Given the description of an element on the screen output the (x, y) to click on. 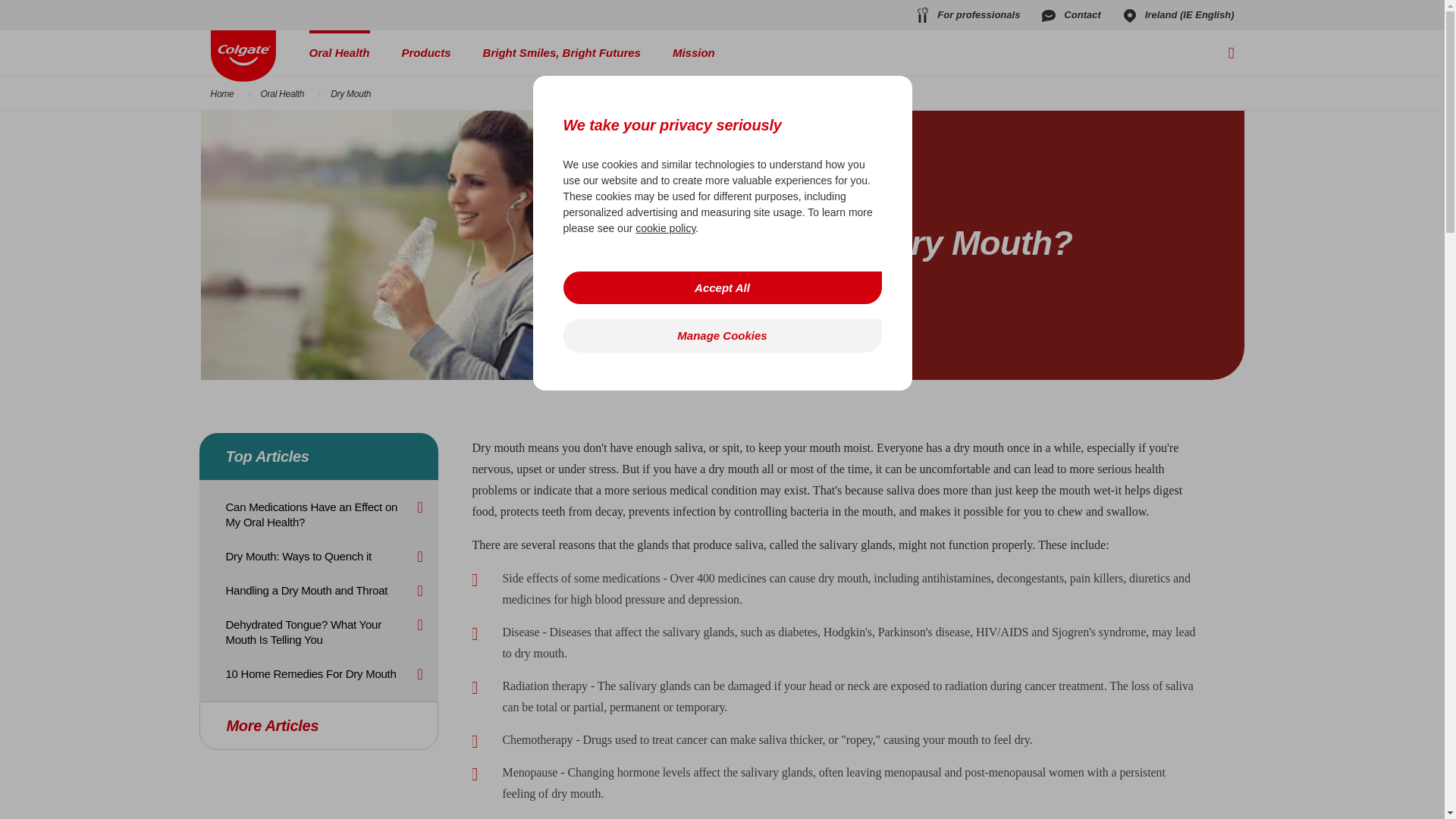
Contact (1069, 14)
Bright Smiles, Bright Futures (561, 52)
For professionals (966, 15)
Oral Health (338, 52)
Manage Cookies (721, 335)
Mission (693, 52)
Products (426, 52)
home (243, 55)
Accept All (721, 287)
cookie policy (664, 227)
